Given the description of an element on the screen output the (x, y) to click on. 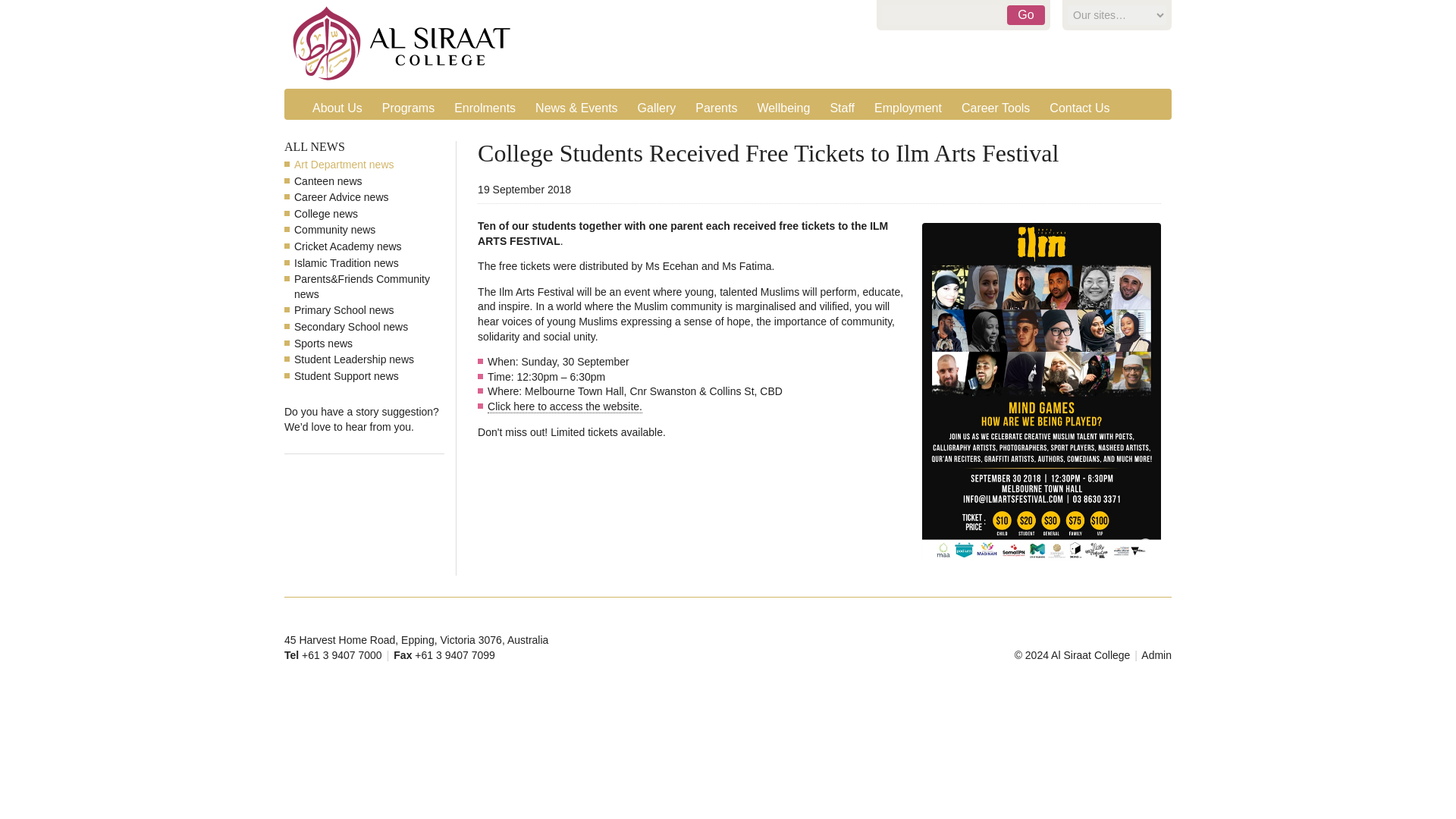
Programs (408, 107)
Go (1026, 14)
Go (1026, 14)
Enrolments (485, 107)
About Us (338, 107)
